Given the description of an element on the screen output the (x, y) to click on. 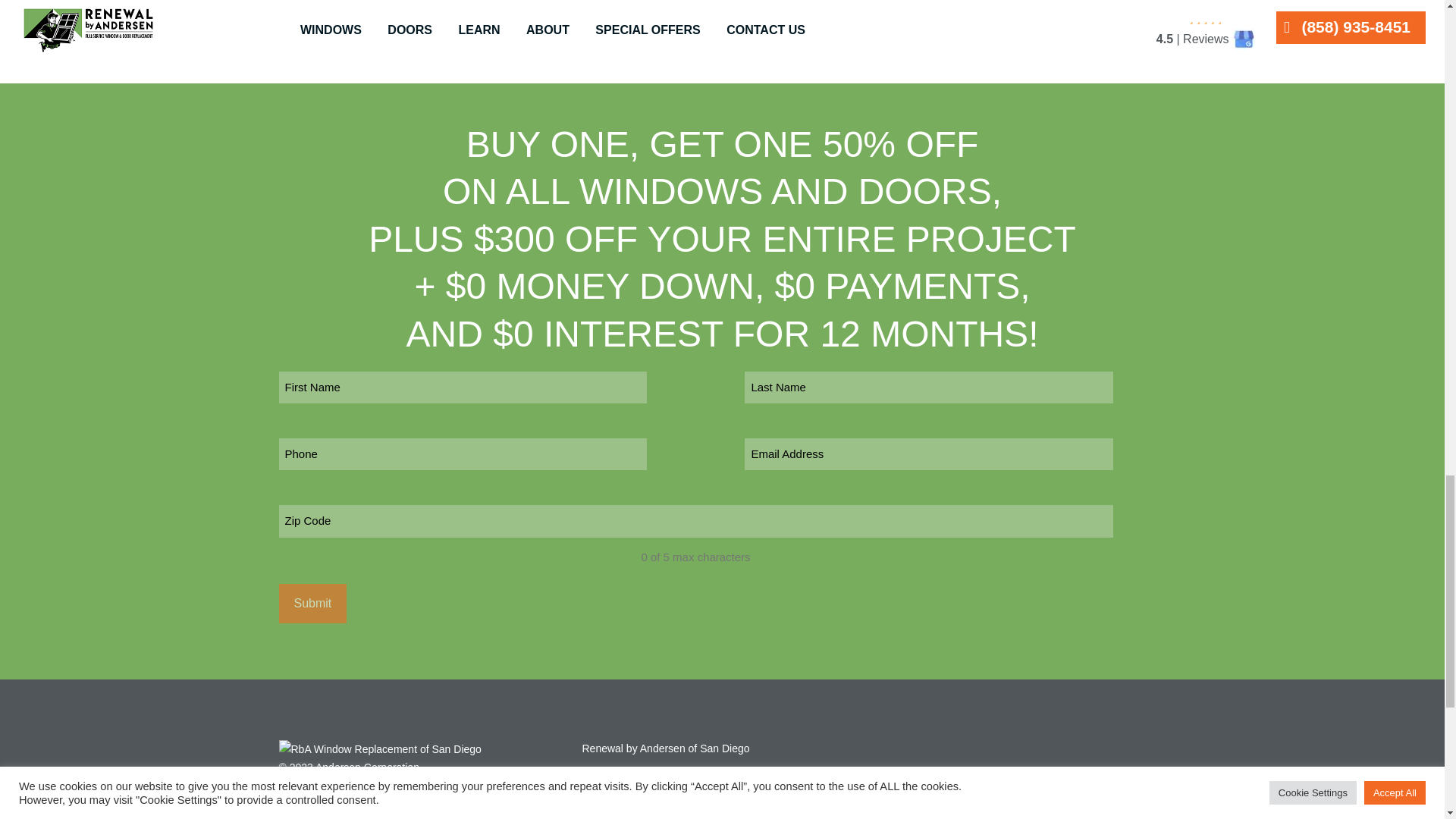
Submit (313, 603)
